Given the description of an element on the screen output the (x, y) to click on. 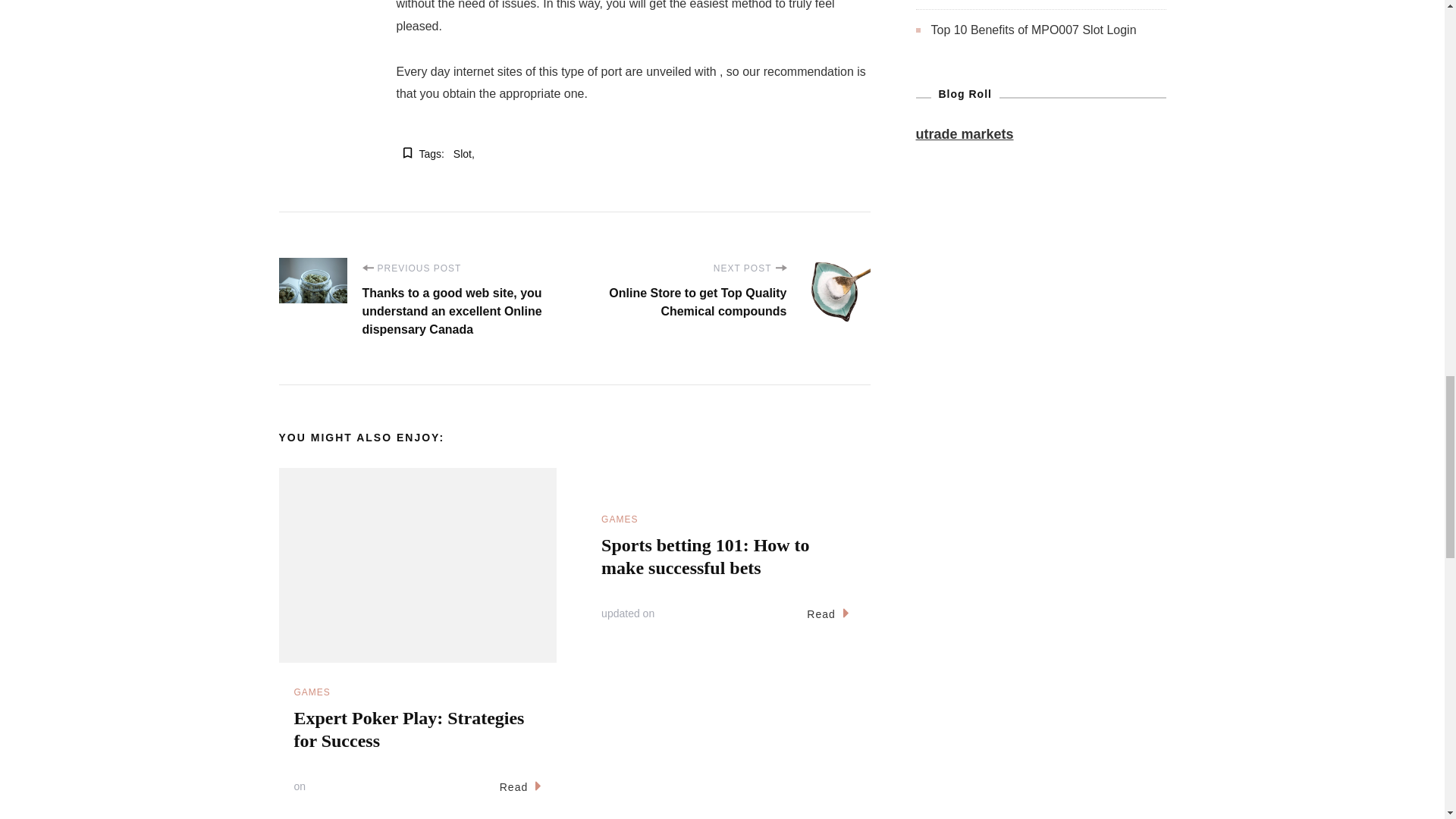
GAMES (619, 519)
Read (520, 787)
GAMES (312, 693)
Read (827, 614)
Expert Poker Play: Strategies for Success (409, 729)
Slot (463, 154)
Sports betting 101: How to make successful bets (705, 556)
